Given the description of an element on the screen output the (x, y) to click on. 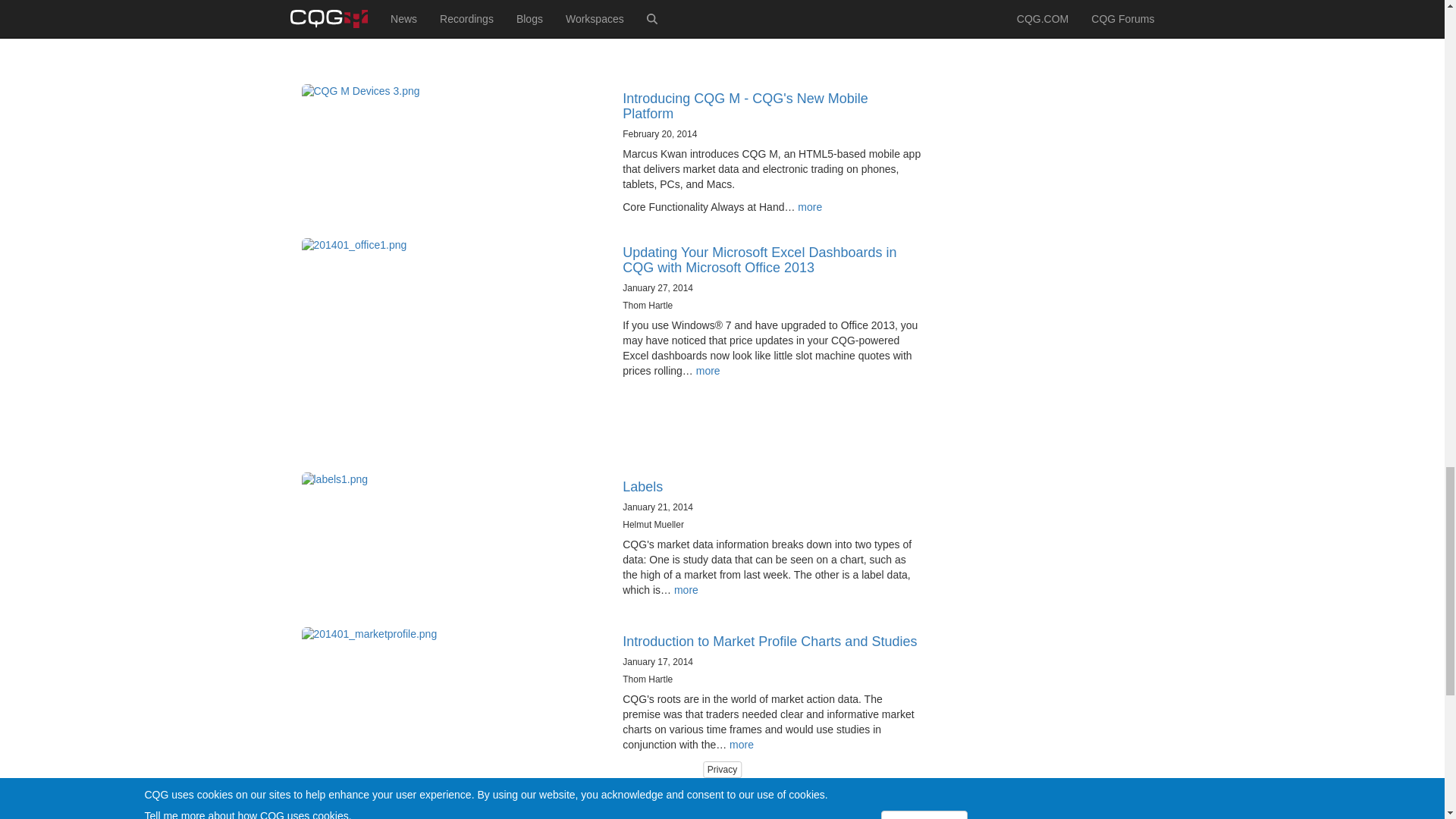
more (707, 370)
Introduction to Market Profile Charts and Studies (770, 641)
more (741, 744)
Introducing CQG M - CQG's New Mobile Platform (745, 105)
Labels (642, 486)
more (809, 206)
more (686, 589)
